Given the description of an element on the screen output the (x, y) to click on. 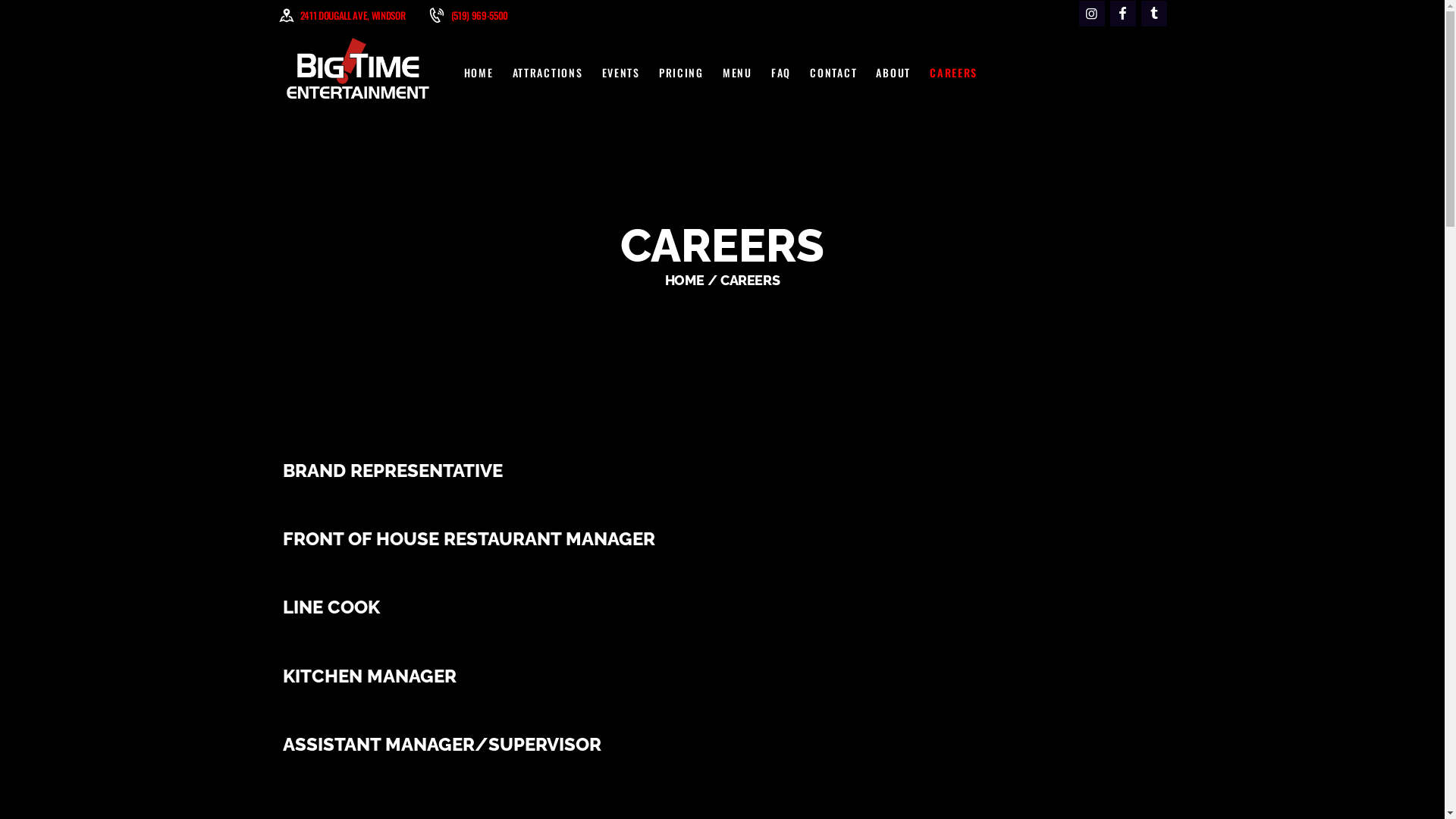
LINE COOK Element type: text (725, 607)
HOME Element type: text (684, 280)
FRONT OF HOUSE RESTAURANT MANAGER Element type: text (725, 538)
ATTRACTIONS Element type: text (547, 72)
MENU Element type: text (736, 72)
KITCHEN MANAGER Element type: text (725, 676)
CAREERS Element type: text (953, 72)
PRICING Element type: text (680, 72)
FAQ Element type: text (780, 72)
CONTACT Element type: text (833, 72)
EVENTS Element type: text (620, 72)
ASSISTANT MANAGER/SUPERVISOR Element type: text (725, 744)
(519) 969-5500 Element type: text (468, 13)
BRAND REPRESENTATIVE Element type: text (725, 470)
HOME Element type: text (478, 72)
ABOUT Element type: text (893, 72)
